Given the description of an element on the screen output the (x, y) to click on. 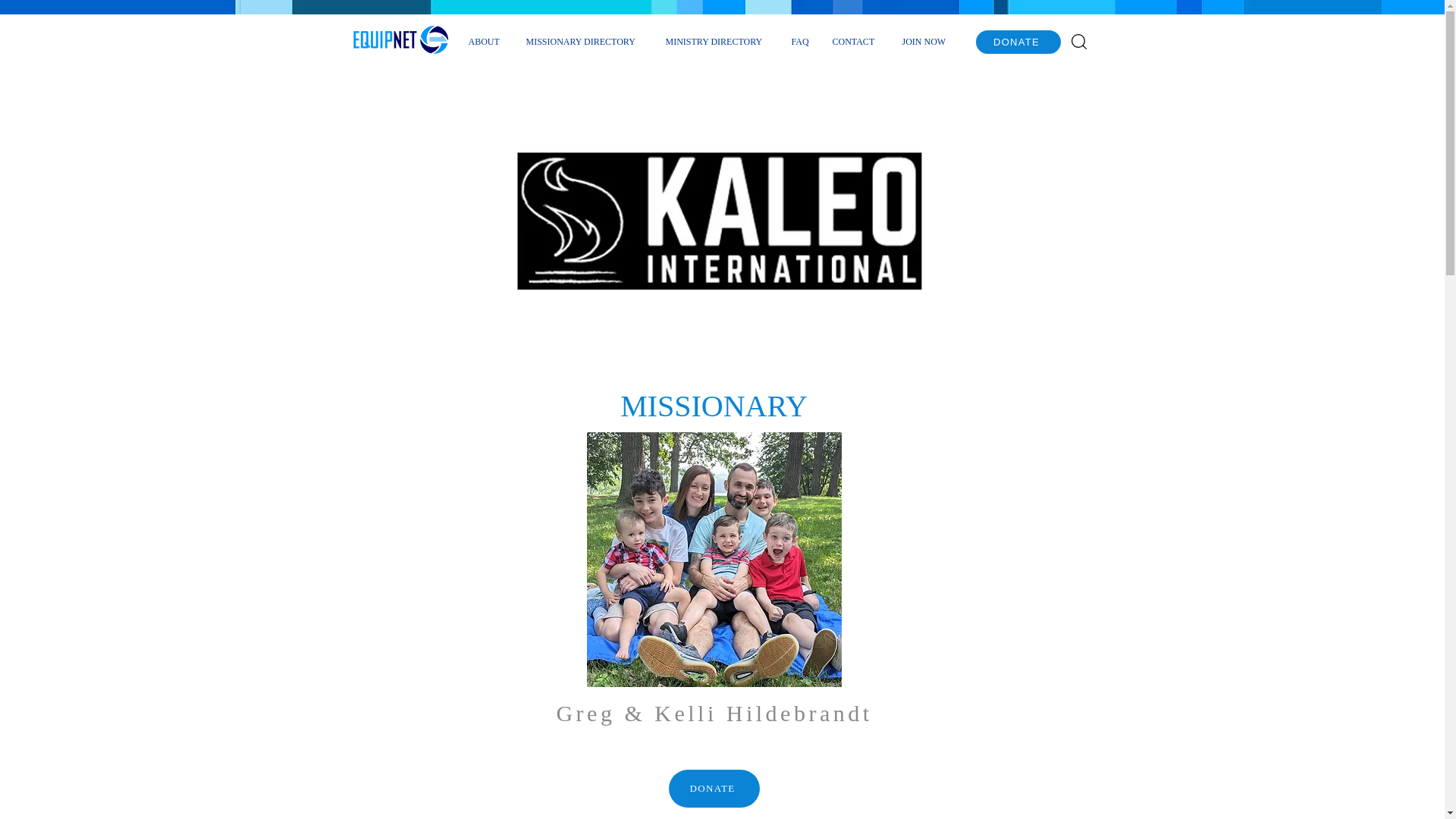
DONATE (1017, 42)
JOIN NOW (925, 41)
MISSIONARY DIRECTORY (583, 41)
DONATE (714, 788)
ABOUT (485, 41)
MINISTRY DIRECTORY (715, 41)
FAQ (799, 41)
CONTACT (855, 41)
